Given the description of an element on the screen output the (x, y) to click on. 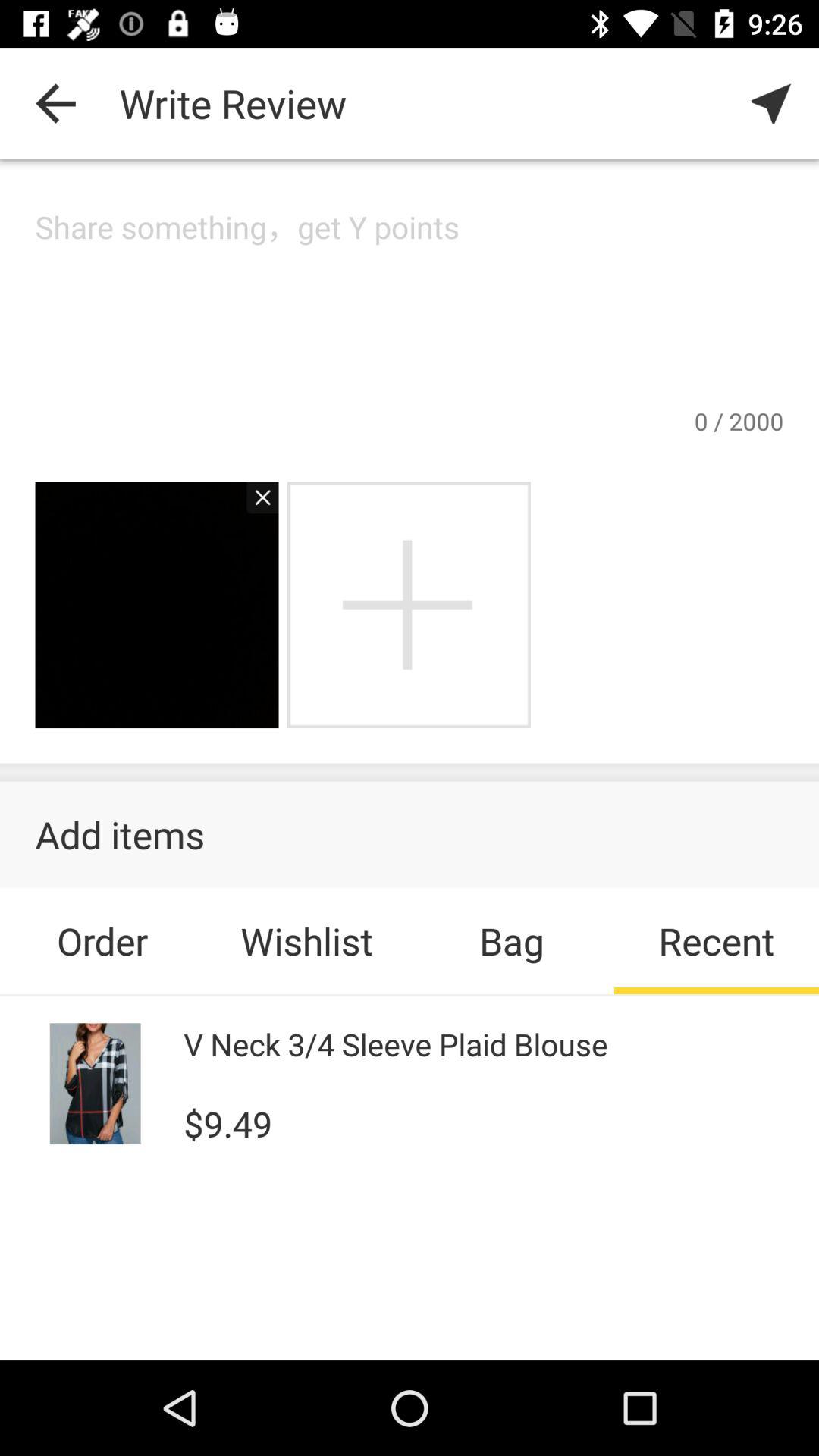
launch item to the right of the write review item (771, 103)
